Given the description of an element on the screen output the (x, y) to click on. 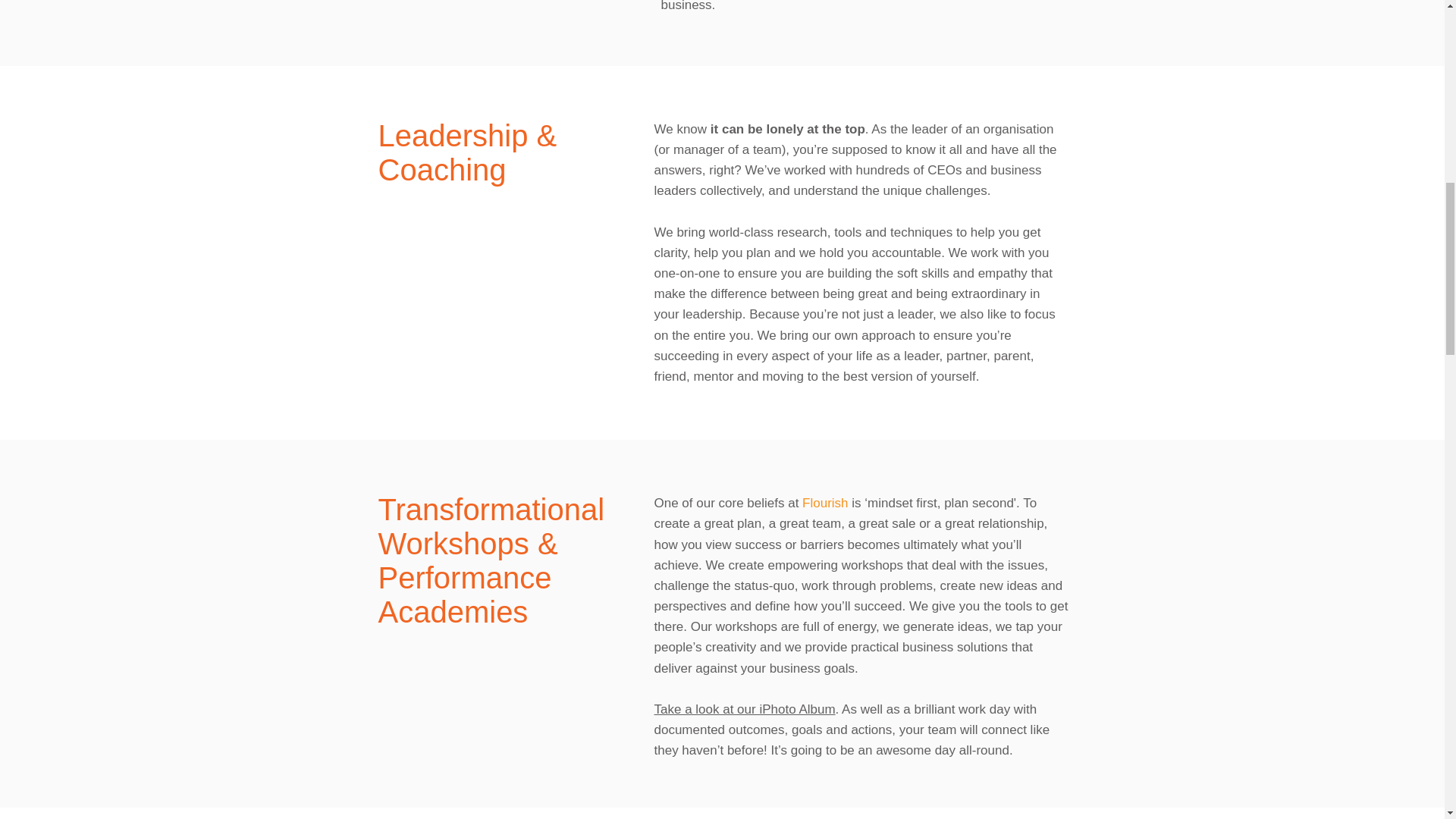
Take a look at our iPhoto Album (743, 708)
